Given the description of an element on the screen output the (x, y) to click on. 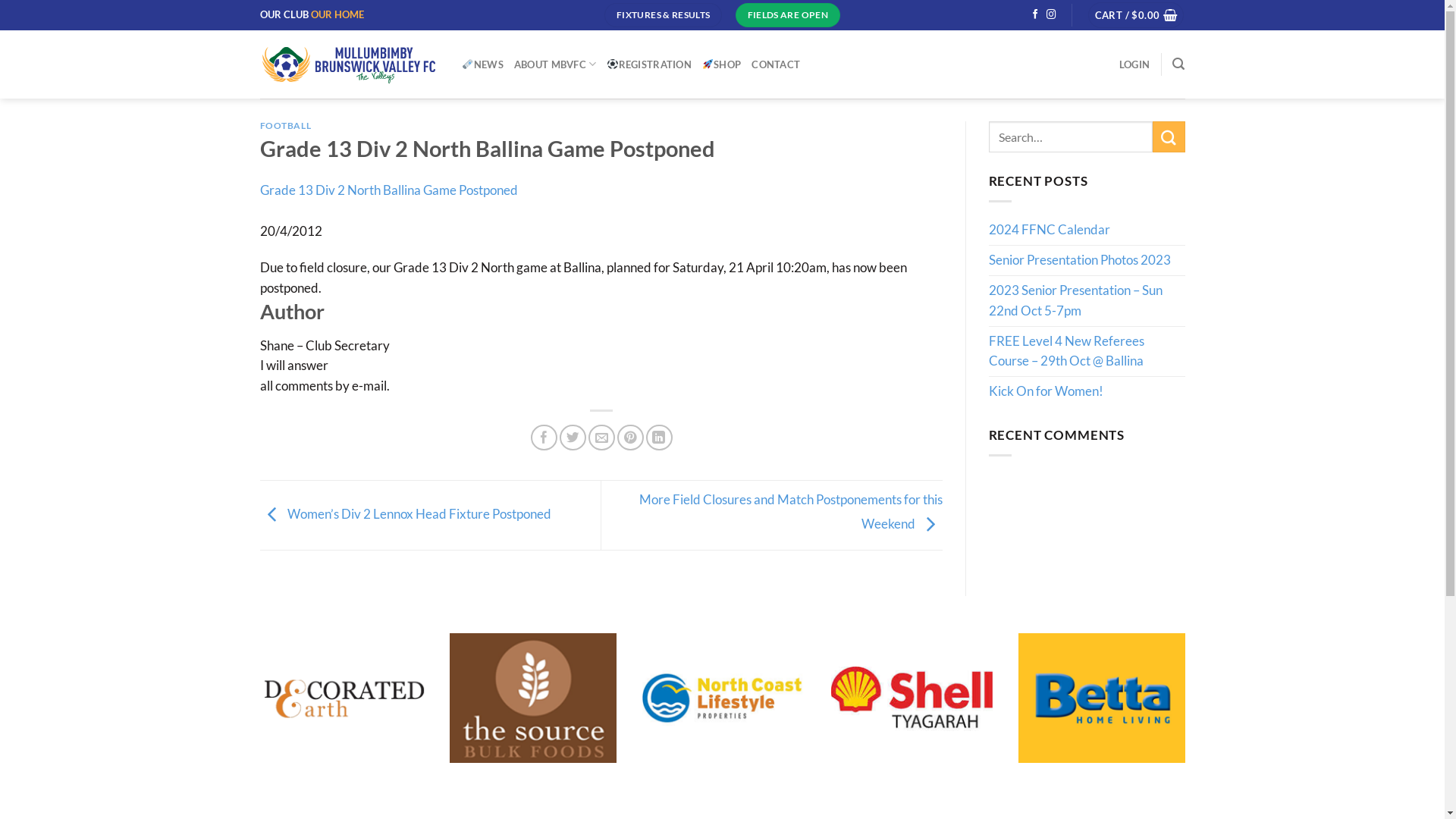
CONTACT Element type: text (775, 63)
CART / $0.00 Element type: text (1135, 15)
FIELDS ARE OPEN Element type: text (787, 14)
SHOP Element type: text (721, 63)
FIXTURES & RESULTS Element type: text (662, 14)
FOOTBALL Element type: text (284, 125)
mbvfc - OUR CLUB OUR HOME Element type: hover (349, 64)
Senior Presentation Photos 2023 Element type: text (1079, 260)
Kick On for Women! Element type: text (1045, 391)
Grade 13 Div 2 North Ballina Game Postponed Element type: text (388, 189)
More Field Closures and Match Postponements for this Weekend Element type: text (789, 511)
NEWS Element type: text (482, 63)
2024 FFNC Calendar Element type: text (1049, 229)
REGISTRATION Element type: text (648, 63)
LOGIN Element type: text (1134, 63)
ABOUT MBVFC Element type: text (555, 63)
